Given the description of an element on the screen output the (x, y) to click on. 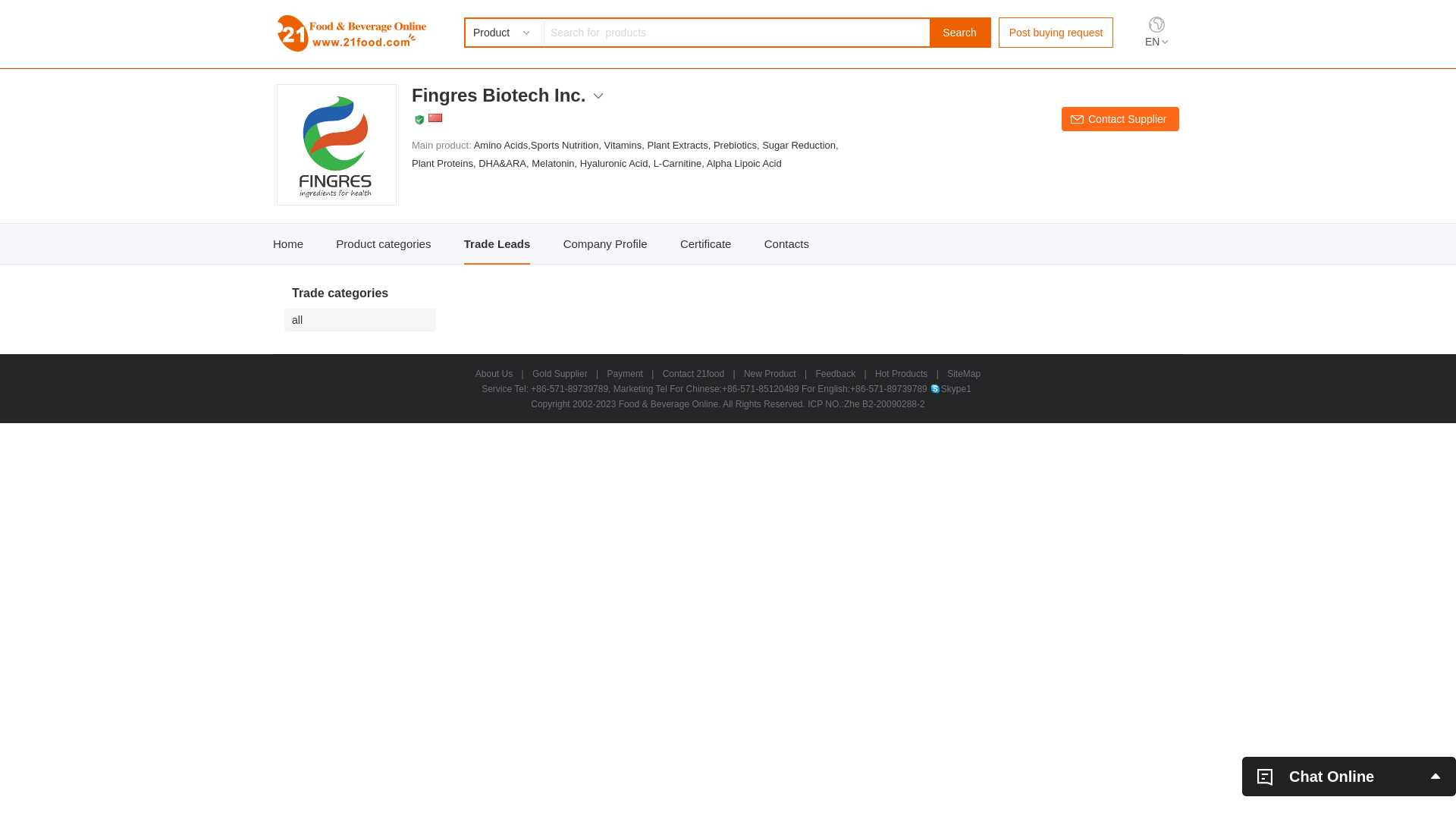
Search Element type: text (959, 32)
SiteMap Element type: text (963, 373)
Payment Element type: text (625, 373)
all Element type: text (363, 319)
Gold Supplier Element type: text (559, 373)
Home Element type: text (288, 243)
Contact 21food Element type: text (693, 373)
Trade Leads Element type: text (497, 244)
China Element type: hover (435, 117)
Contact Supplier Element type: text (1120, 118)
New Product Element type: text (769, 373)
Hot Products Element type: text (901, 373)
Feedback Element type: text (835, 373)
EN Element type: text (1156, 41)
Post buying request Element type: text (1055, 32)
Product categories Element type: text (382, 243)
Skype1 Element type: text (950, 388)
Contacts Element type: text (786, 243)
About Us Element type: text (493, 373)
Company Profile Element type: text (605, 243)
Certificate Element type: text (705, 243)
